Given the description of an element on the screen output the (x, y) to click on. 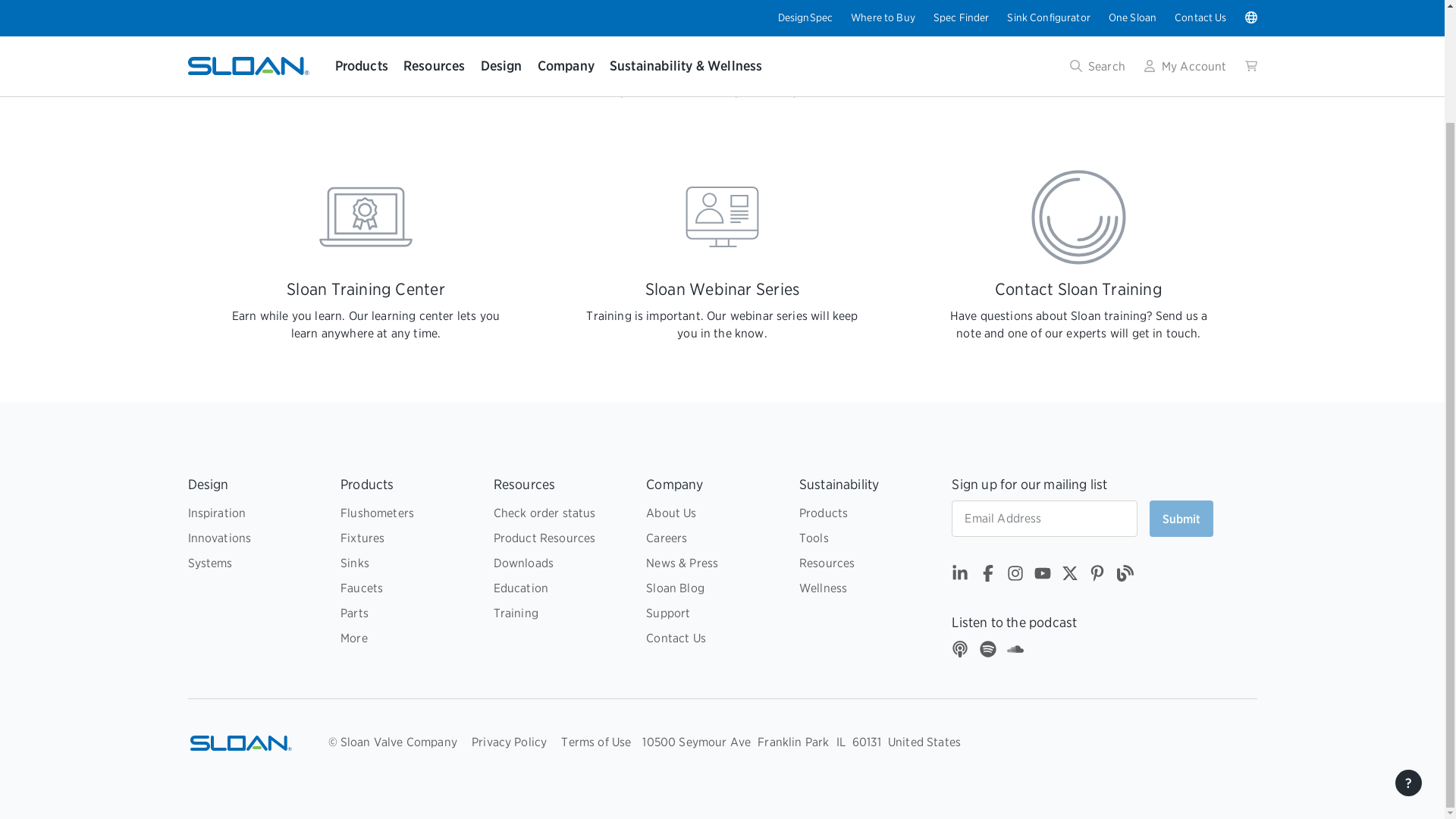
Apple Podcasts (960, 651)
Pinterest (1097, 575)
Soundcloud (1015, 651)
Instagram (1015, 575)
YouTube (1042, 575)
Blog (1124, 575)
Facebook (987, 575)
LinkedIn (960, 575)
Twitter (1069, 575)
Spotify (987, 651)
